Given the description of an element on the screen output the (x, y) to click on. 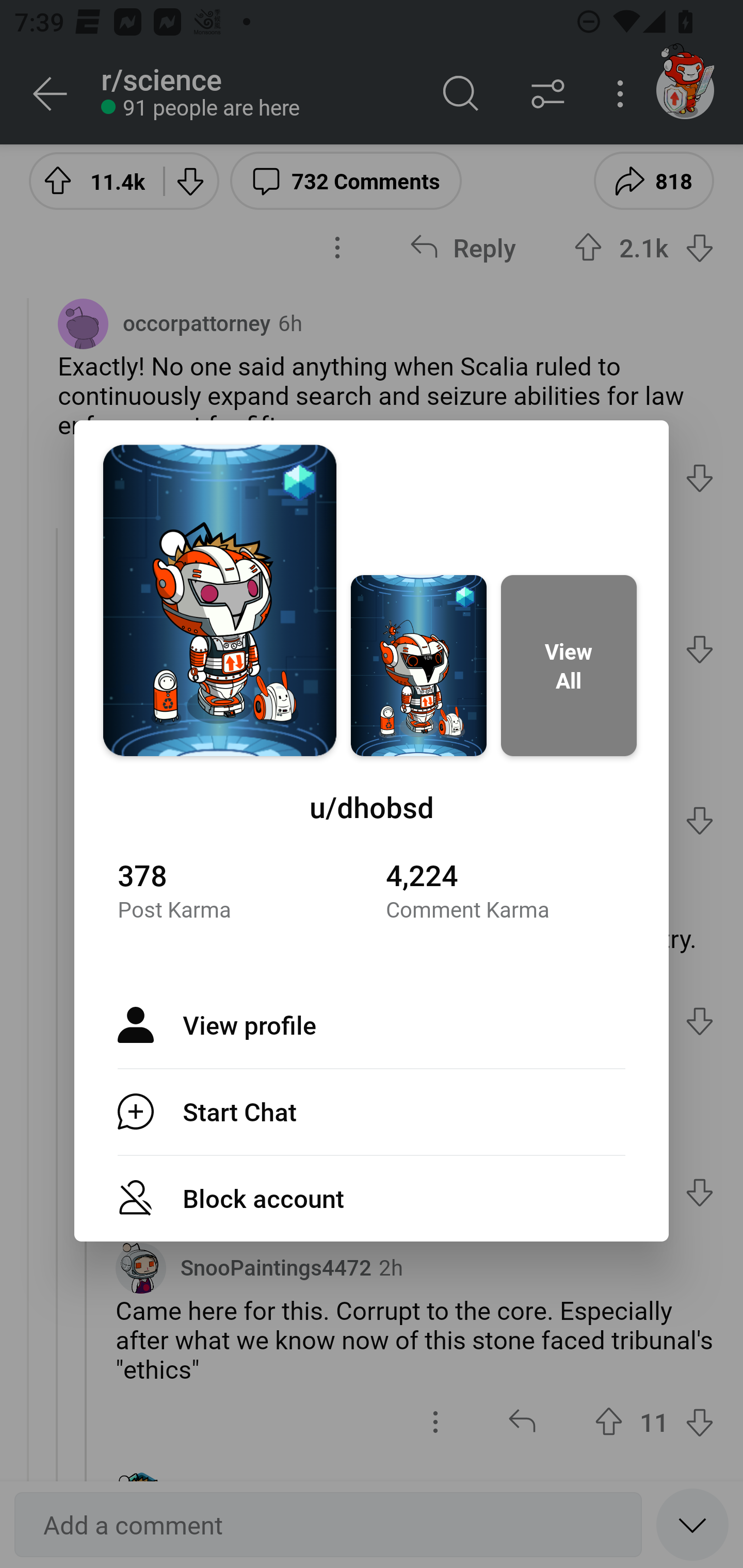
u/dhobsd (371, 806)
View profile (371, 1024)
Start Chat (371, 1111)
1h (325, 1095)
Block account (371, 1198)
